Given the description of an element on the screen output the (x, y) to click on. 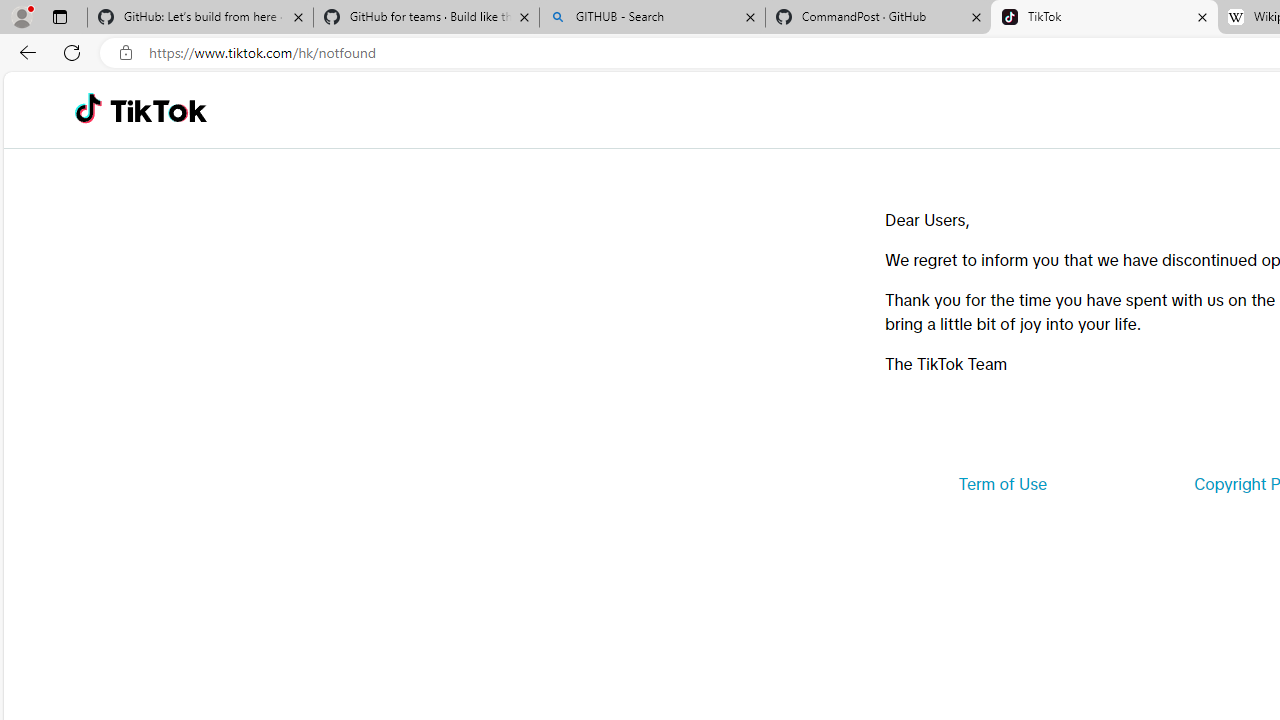
TikTok (1104, 17)
Term of Use (1002, 484)
TikTok (158, 110)
GITHUB - Search (652, 17)
